Given the description of an element on the screen output the (x, y) to click on. 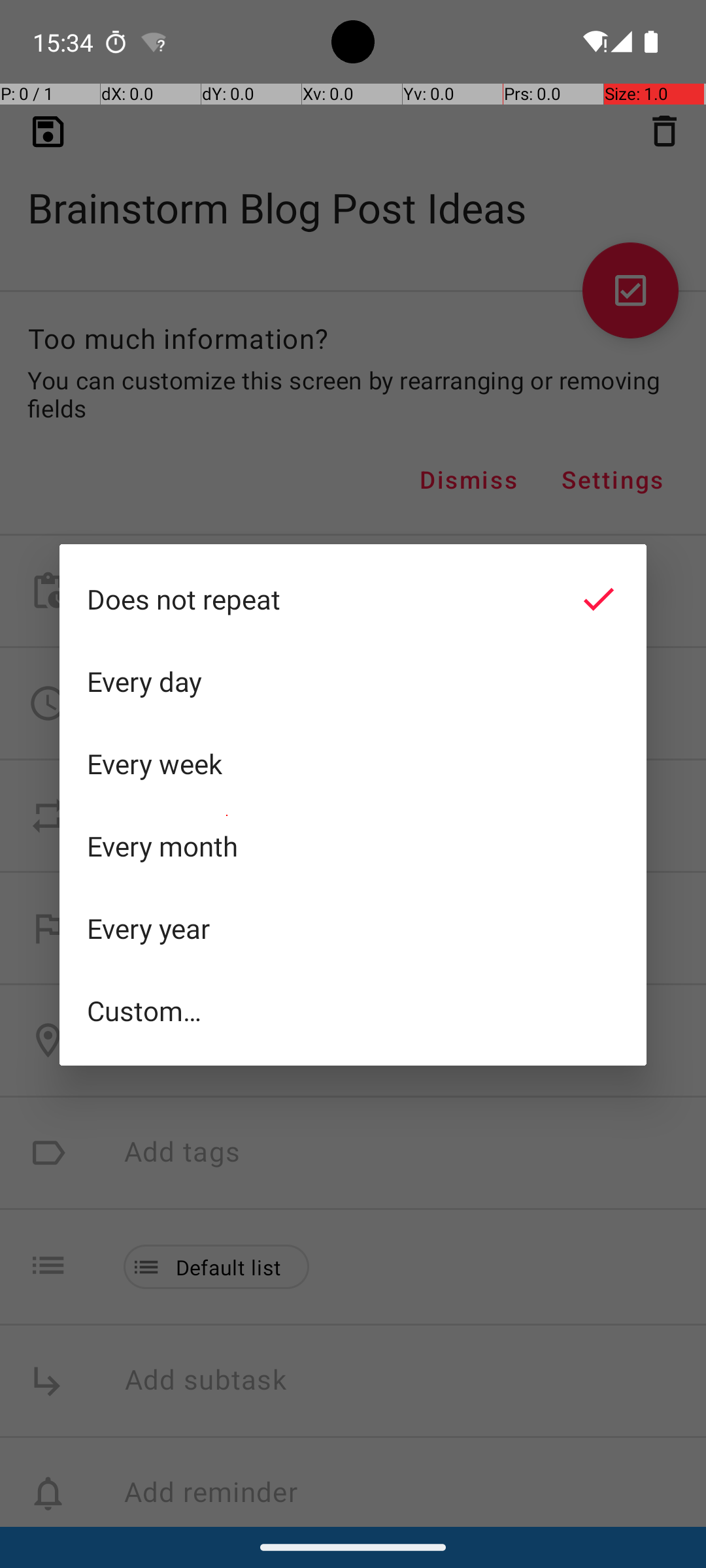
Every day Element type: android.widget.CheckedTextView (352, 681)
Every week Element type: android.widget.CheckedTextView (352, 763)
Every month Element type: android.widget.CheckedTextView (352, 845)
Every year Element type: android.widget.CheckedTextView (352, 928)
Custom… Element type: android.widget.CheckedTextView (352, 1010)
